Given the description of an element on the screen output the (x, y) to click on. 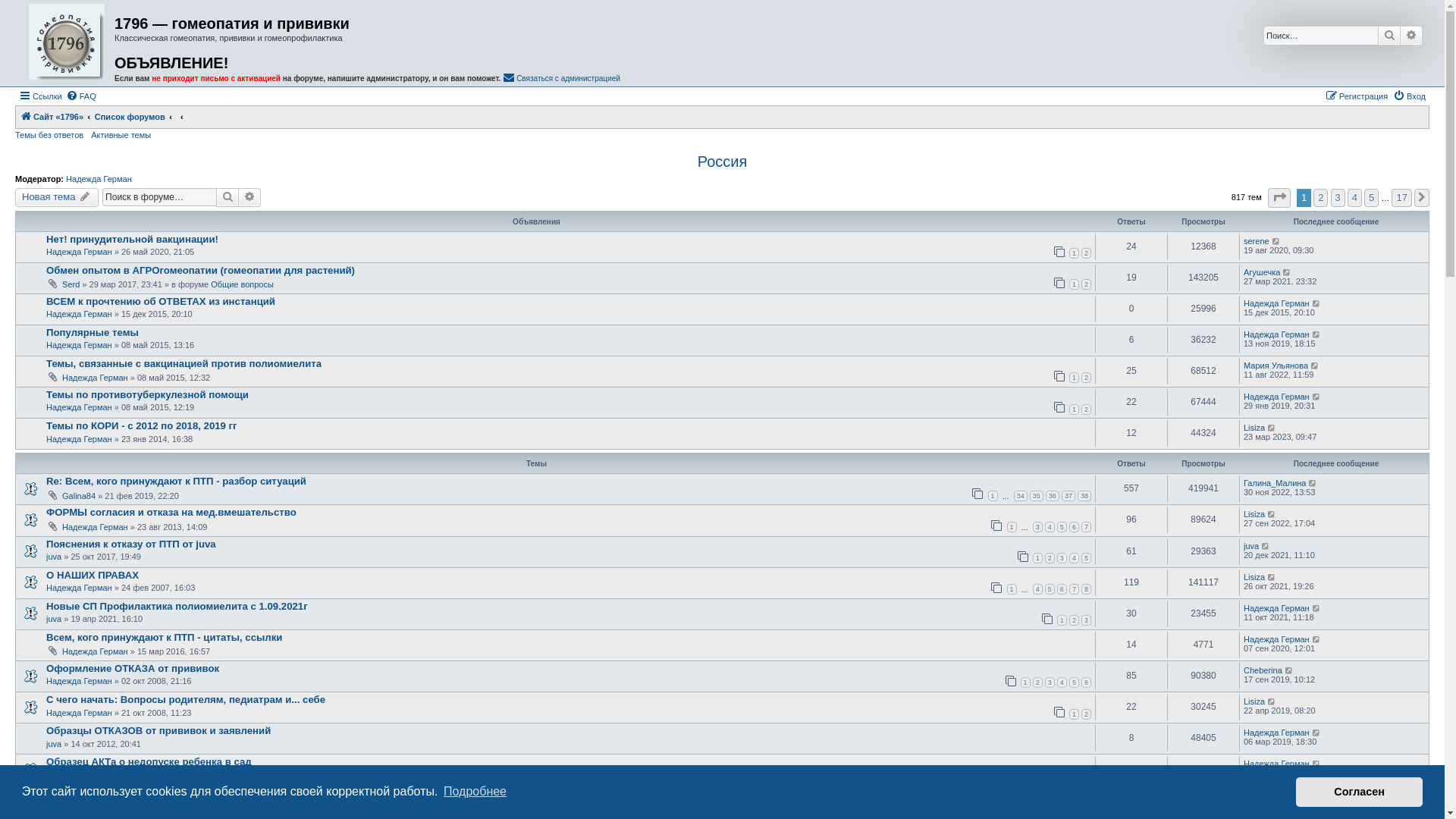
Galina84 Element type: text (78, 495)
3 Element type: text (1086, 620)
FAQ Element type: text (80, 96)
3 Element type: text (1061, 557)
18 Element type: text (1020, 807)
juva Element type: text (53, 743)
juva Element type: text (53, 556)
34 Element type: text (1020, 495)
5 Element type: text (1074, 682)
1 Element type: text (1074, 714)
5 Element type: text (1061, 526)
4 Element type: text (1037, 588)
2 Element type: text (1320, 197)
1 Element type: text (1074, 252)
5 Element type: text (1371, 197)
6 Element type: text (1074, 526)
17 Element type: text (1401, 197)
37 Element type: text (1068, 495)
7 Element type: text (1086, 526)
2 Element type: text (1086, 408)
6 Element type: text (1061, 588)
2 Element type: text (1037, 682)
4 Element type: text (1061, 682)
35 Element type: text (1036, 495)
Cheberina Element type: text (1262, 669)
2 Element type: text (1074, 620)
juva Element type: text (53, 618)
3 Element type: text (1337, 197)
5 Element type: text (1086, 557)
21 Element type: text (1068, 807)
3 Element type: text (1037, 526)
1 Element type: text (992, 495)
Lisiza Element type: text (1253, 701)
2 Element type: text (1086, 714)
2 Element type: text (1086, 284)
5 Element type: text (1049, 588)
36 Element type: text (1052, 495)
4 Element type: text (1354, 197)
2 Element type: text (1049, 557)
2 Element type: text (1086, 377)
4 Element type: text (1049, 526)
20 Element type: text (1052, 807)
1 Element type: text (1025, 682)
38 Element type: text (1084, 495)
19 Element type: text (1036, 807)
1 Element type: text (1074, 408)
6 Element type: text (1086, 682)
Lisiza Element type: text (1253, 576)
1 Element type: text (1011, 526)
Lisiza Element type: text (1253, 513)
8 Element type: text (1086, 588)
1 Element type: text (992, 807)
3 Element type: text (1049, 682)
1 Element type: text (1037, 557)
1 Element type: text (1074, 284)
juva Element type: text (1250, 545)
1 Element type: text (1074, 377)
1 Element type: text (1011, 588)
Lisiza Element type: text (1253, 427)
serene Element type: text (1256, 240)
1 Element type: text (1061, 620)
4 Element type: text (1074, 557)
22 Element type: text (1084, 807)
2 Element type: text (1086, 252)
Serd Element type: text (70, 283)
7 Element type: text (1074, 588)
juva Element type: text (1250, 794)
